Given the description of an element on the screen output the (x, y) to click on. 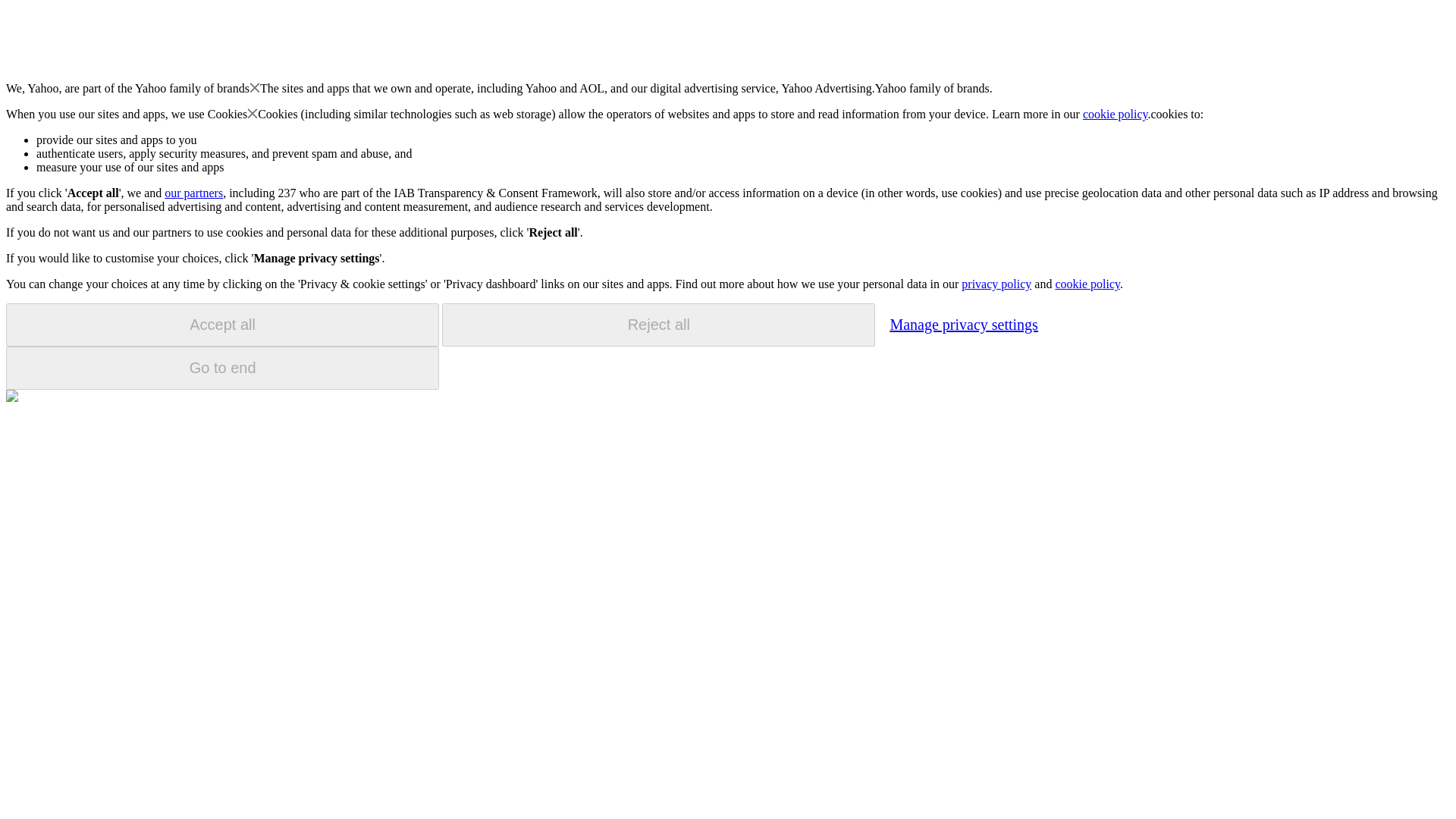
our partners (193, 192)
cookie policy (1115, 113)
cookie policy (1086, 283)
Go to end (222, 367)
Manage privacy settings (963, 323)
privacy policy (995, 283)
Accept all (222, 324)
Reject all (658, 324)
